Given the description of an element on the screen output the (x, y) to click on. 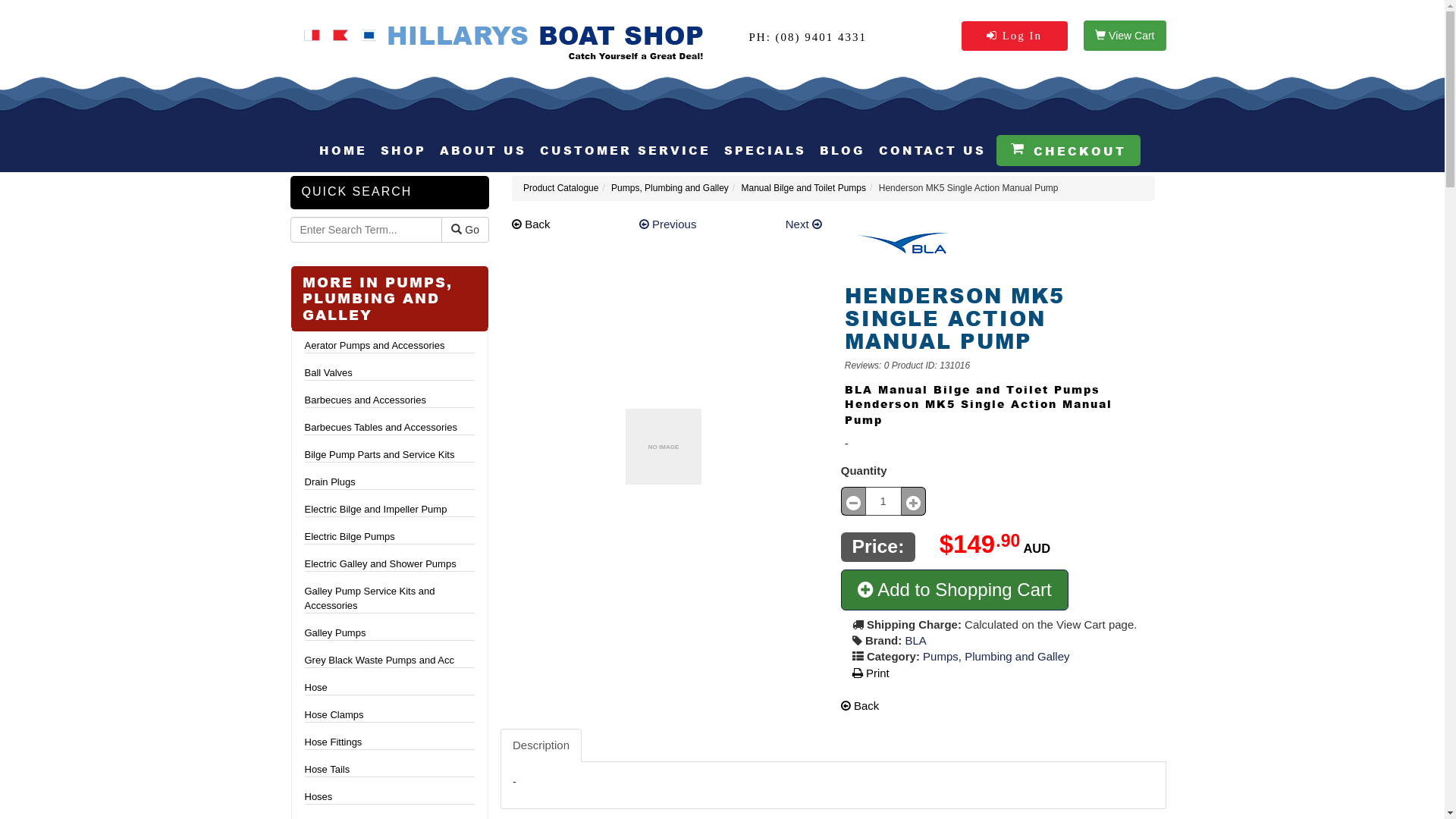
Grey Black Waste Pumps and Acc Element type: text (389, 660)
Hillarys Boat and Tackle Element type: hover (505, 41)
Electric Bilge and Impeller Pump Element type: text (389, 509)
View Cart Element type: text (1124, 35)
Pumps, Plumbing and Galley Element type: text (669, 187)
 Back Element type: text (859, 705)
Add to Shopping Cart Element type: text (954, 589)
Hose Element type: text (389, 687)
CONTACT US Element type: text (931, 150)
ABOUT US Element type: text (482, 150)
Next  Element type: text (803, 223)
BLA Element type: text (914, 639)
Manual Bilge and Toilet Pumps Element type: text (803, 187)
Galley Pumps Element type: text (389, 632)
Aerator Pumps and Accessories Element type: text (389, 345)
Search Products Element type: hover (365, 229)
Log In Element type: text (1014, 35)
CHECKOUT Element type: text (1067, 150)
SHOP Element type: text (403, 150)
Ball Valves Element type: text (389, 372)
 Previous Element type: text (667, 223)
 Back Element type: text (530, 224)
Hose Clamps Element type: text (389, 714)
Galley Pump Service Kits and Accessories Element type: text (389, 598)
Hillarys Boat and Tackle Element type: hover (506, 41)
Barbecues and Accessories Element type: text (389, 399)
Hose Tails Element type: text (389, 769)
CUSTOMER SERVICE Element type: text (624, 150)
Hoses Element type: text (389, 796)
Pumps, Plumbing and Galley Element type: text (995, 655)
Hose Fittings Element type: text (389, 741)
Barbecues Tables and Accessories Element type: text (389, 427)
SPECIALS Element type: text (764, 150)
Drain Plugs Element type: text (389, 481)
Description Element type: text (540, 744)
PH: (08) 9401 4331 Element type: text (808, 37)
Electric Bilge Pumps Element type: text (389, 536)
Electric Galley and Shower Pumps Element type: text (389, 563)
Search Element type: hover (456, 228)
Go Element type: text (465, 229)
BLOG Element type: text (841, 150)
 Print Element type: text (870, 672)
HOME Element type: text (342, 150)
Product Catalogue Element type: text (560, 187)
Bilge Pump Parts and Service Kits Element type: text (389, 454)
